Given the description of an element on the screen output the (x, y) to click on. 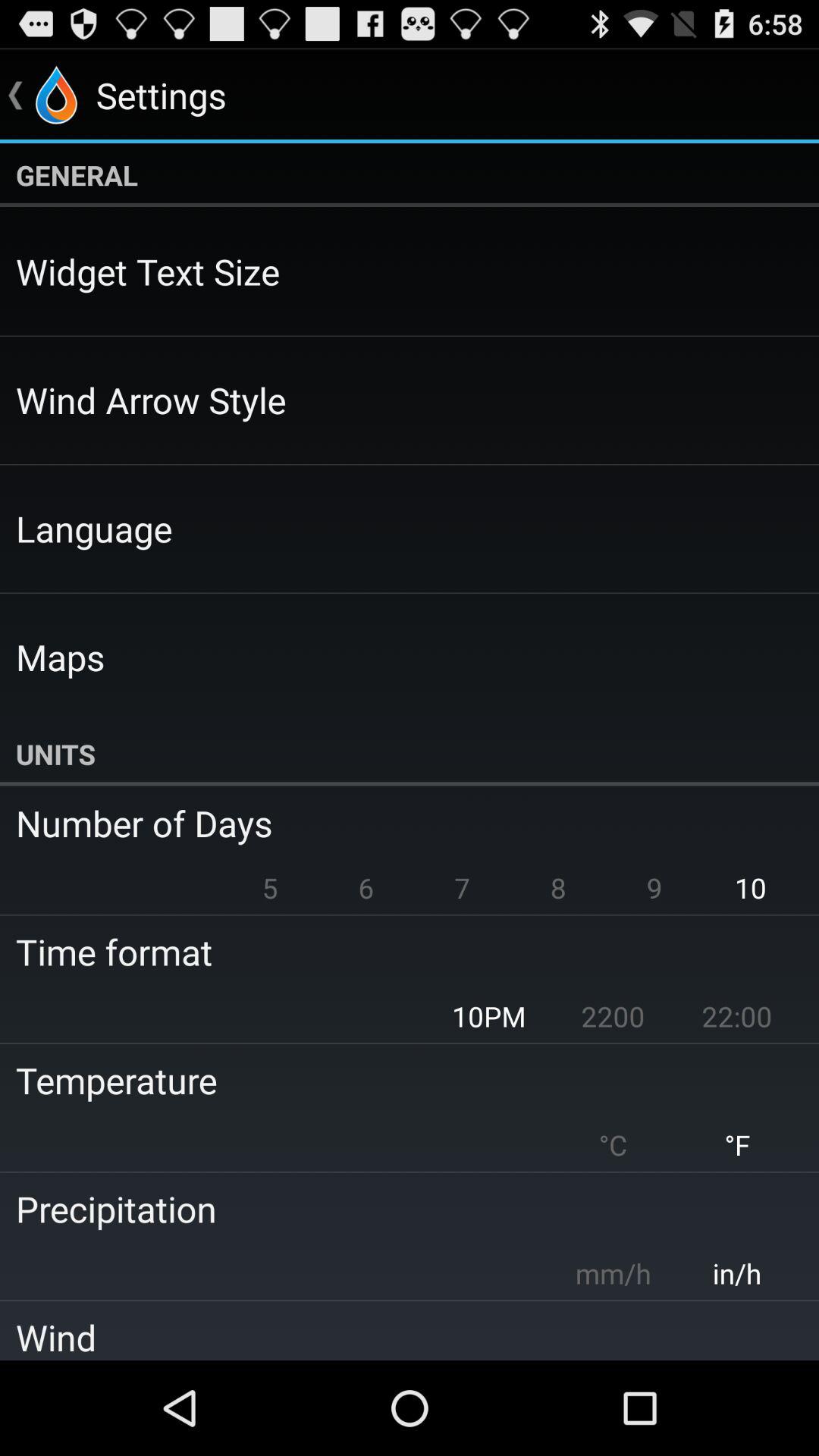
flip until temperature app (399, 1080)
